Given the description of an element on the screen output the (x, y) to click on. 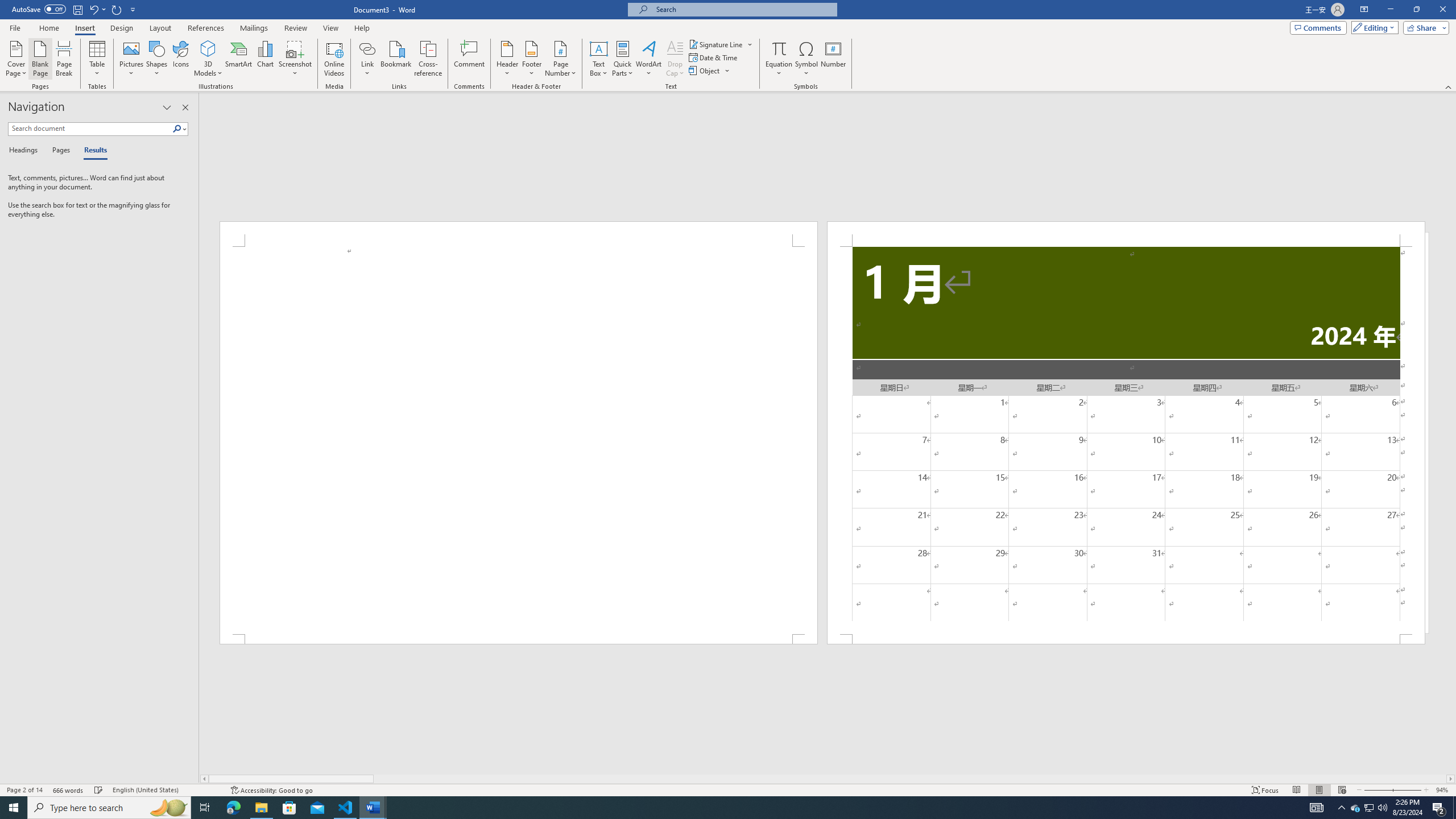
Signature Line (716, 44)
Cover Page (16, 58)
Page Break (63, 58)
Date & Time... (714, 56)
Repeat New Page (117, 9)
Screenshot (295, 58)
